Given the description of an element on the screen output the (x, y) to click on. 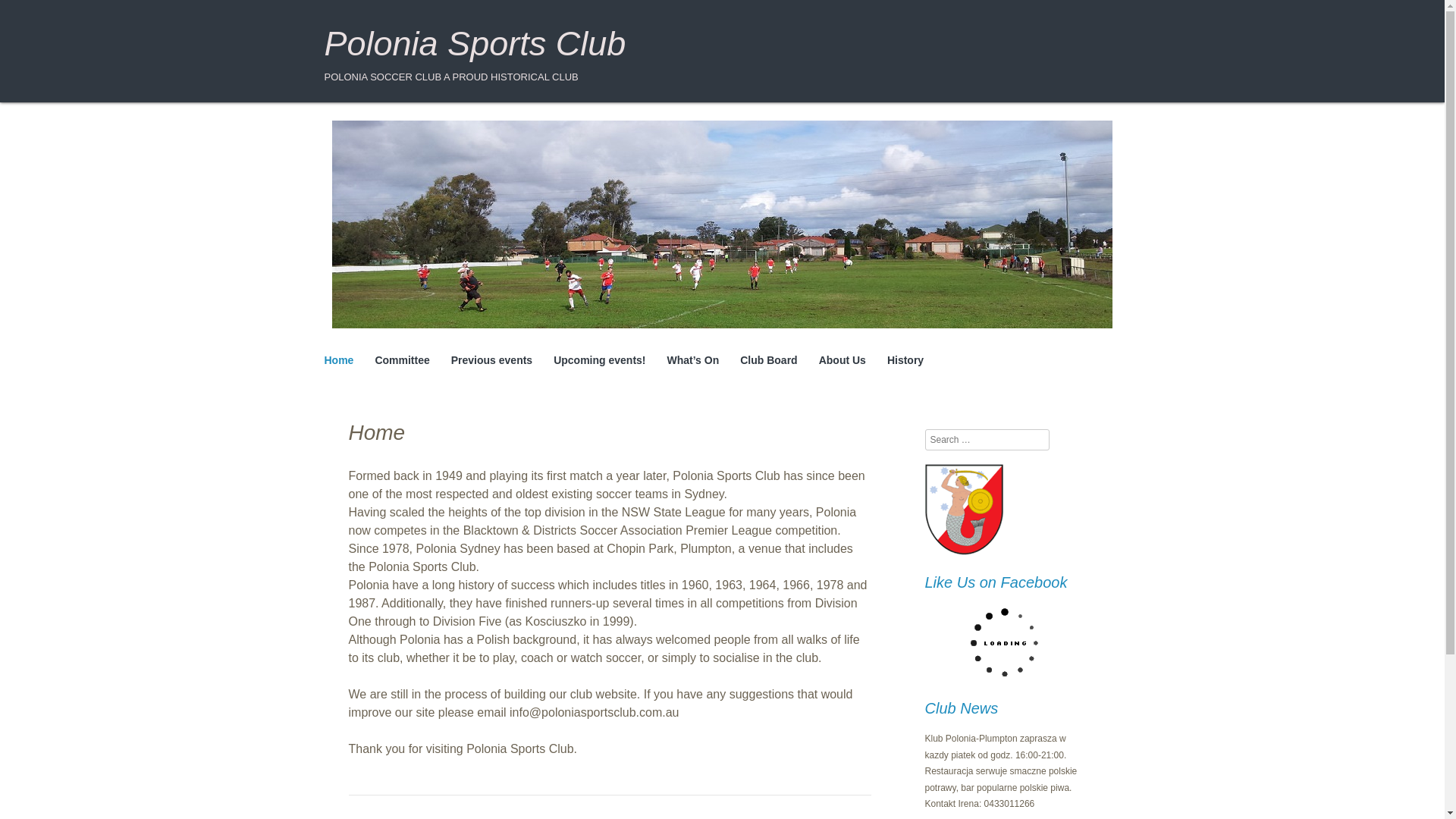
Polonia Sports Club (475, 43)
Previous events (491, 360)
Club Board (767, 360)
History (904, 360)
Polonia Sports Club (475, 43)
Upcoming events! (599, 360)
Committee (401, 360)
About Us (842, 360)
Home (338, 360)
